Given the description of an element on the screen output the (x, y) to click on. 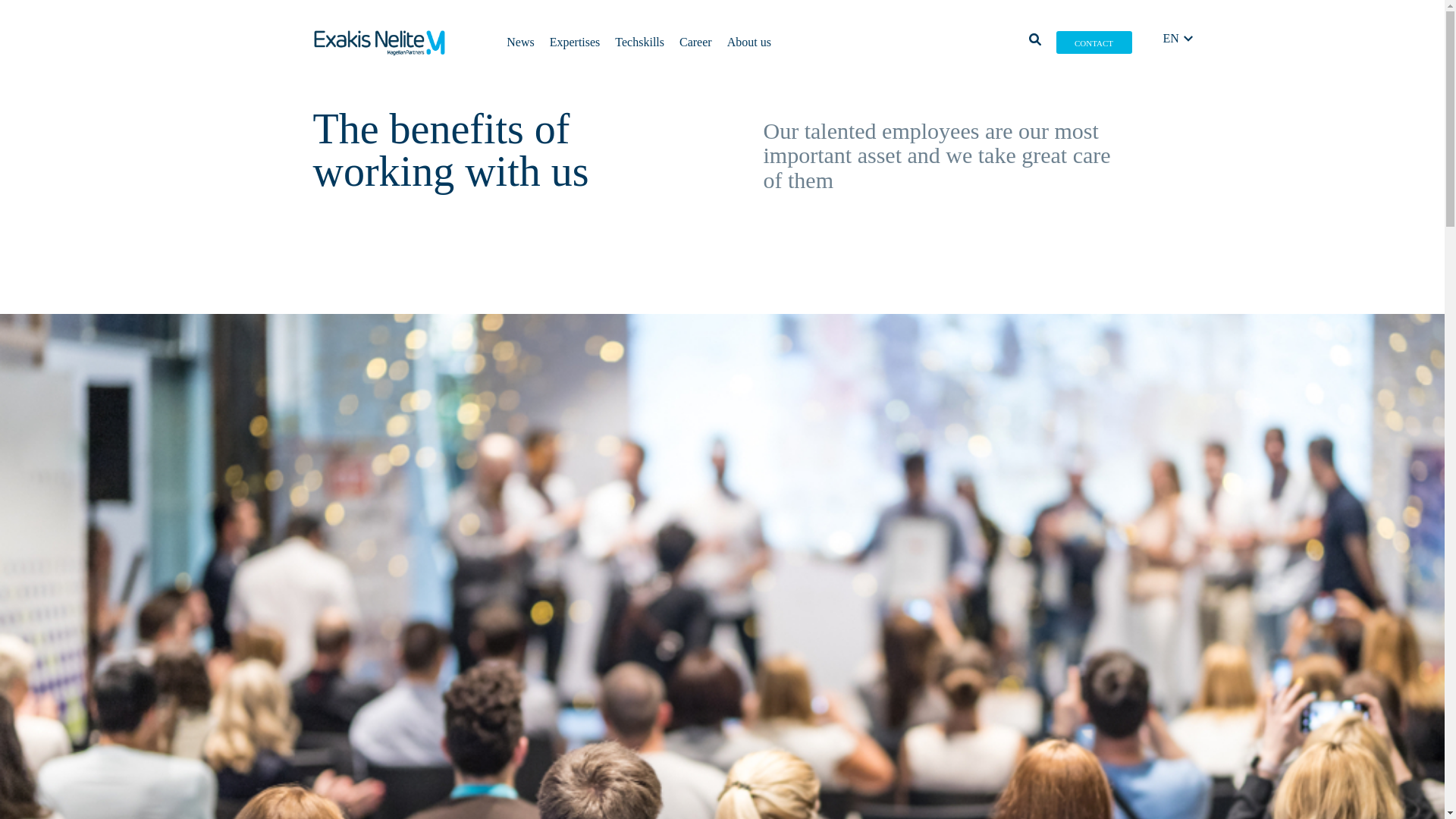
Career (695, 42)
Expertises (574, 42)
Techskills (638, 42)
News (520, 42)
About us (748, 42)
CONTACT (1093, 42)
